Given the description of an element on the screen output the (x, y) to click on. 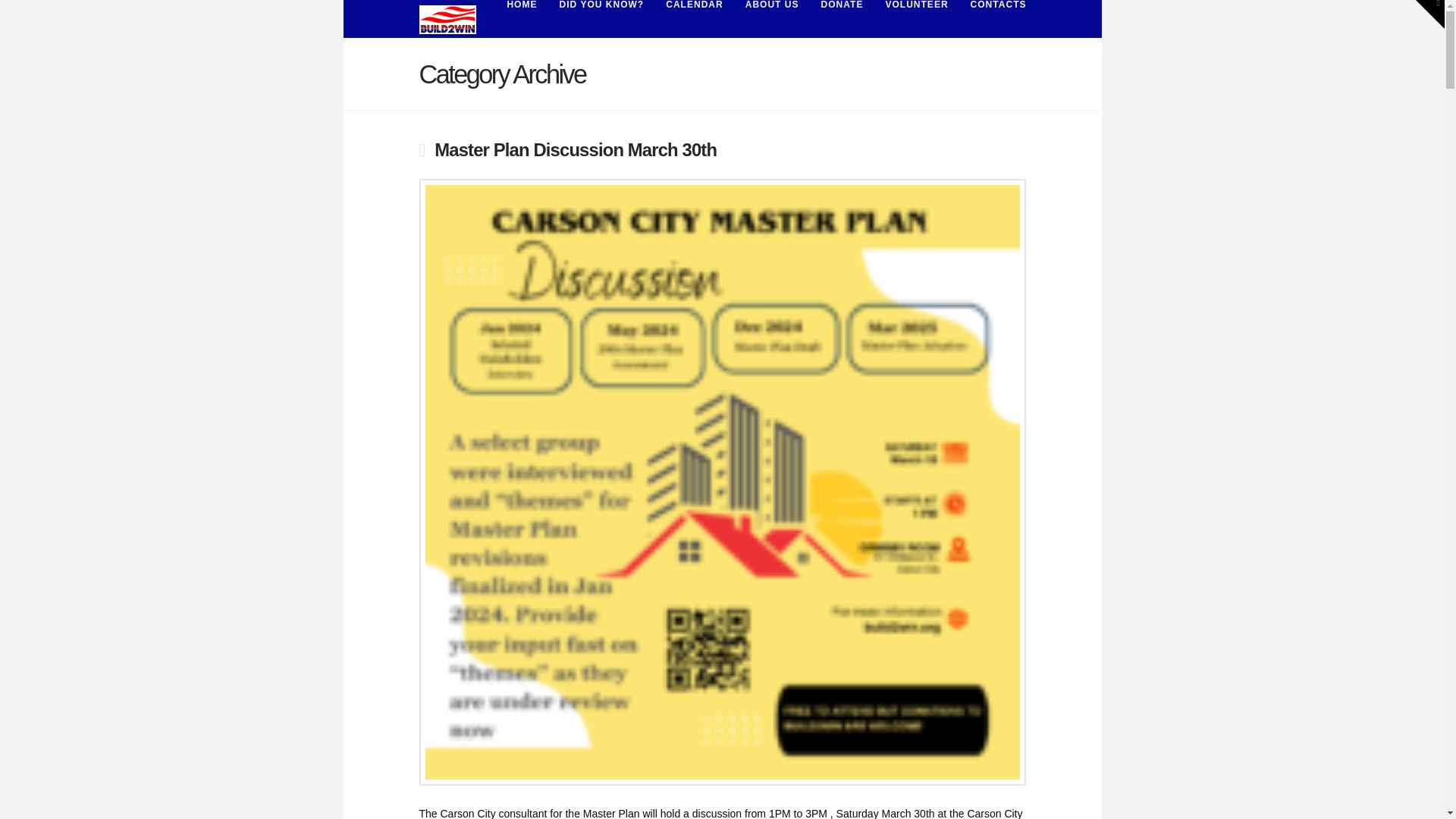
DID YOU KNOW? (601, 18)
Permalink to: "Master Plan Discussion March 30th" (574, 149)
VOLUNTEER (915, 18)
CALENDAR (693, 18)
ABOUT US (771, 18)
CONTACTS (992, 18)
DONATE (842, 18)
Master Plan Discussion March 30th (574, 149)
HOME (521, 18)
